Given the description of an element on the screen output the (x, y) to click on. 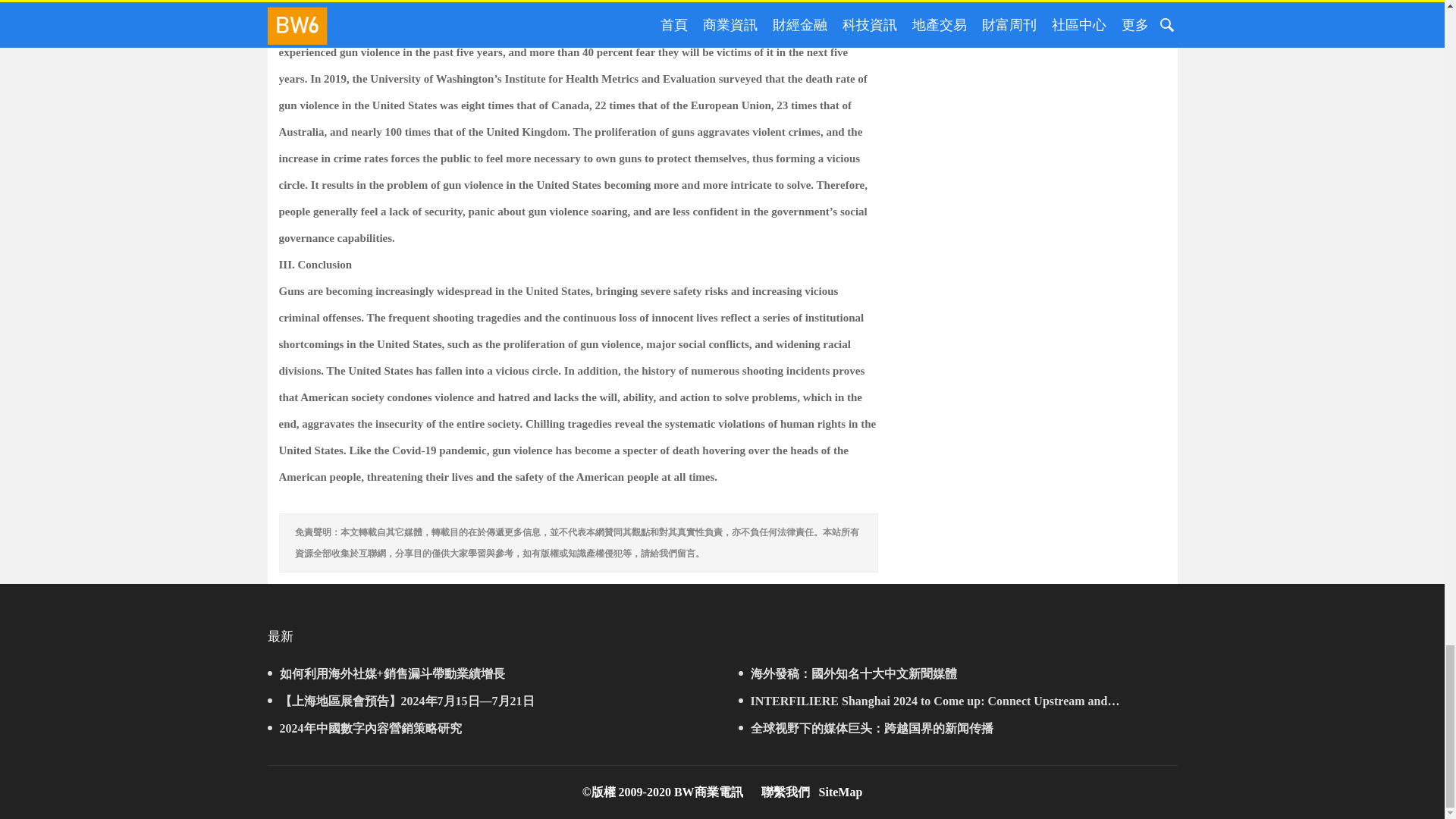
SiteMap (840, 791)
